Given the description of an element on the screen output the (x, y) to click on. 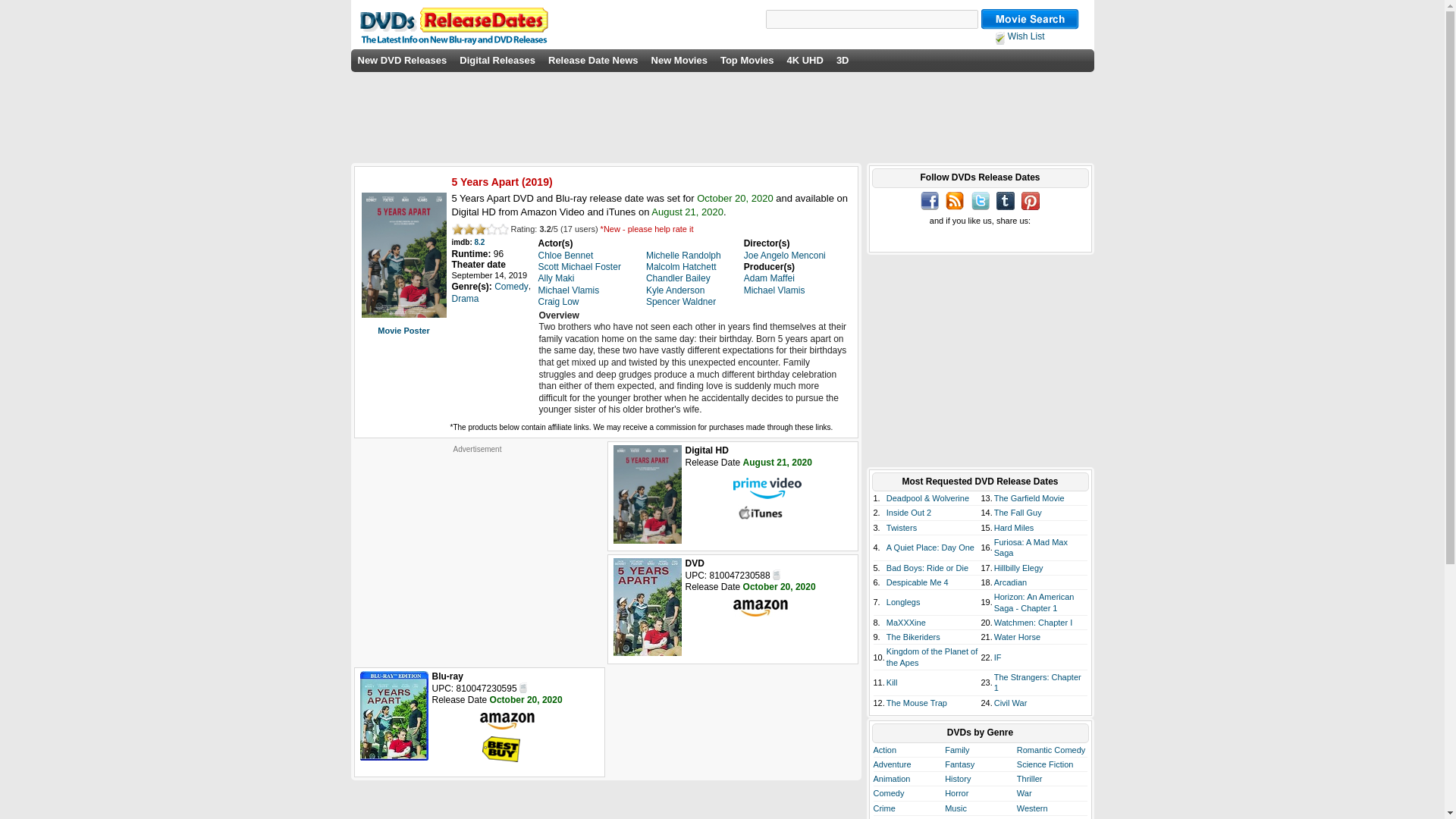
Top Movies (747, 60)
Scott Michael Foster (579, 266)
Chloe Bennet (566, 255)
Michael Vlamis (774, 290)
Wish List (1019, 36)
Malcolm Hatchett (681, 266)
Release Date News (593, 60)
2 (468, 229)
5 (502, 229)
Movie Poster (403, 329)
Chandler Bailey (678, 277)
2 out of 5. (468, 229)
1 (457, 229)
Michelle Randolph (683, 255)
Ally Maki (556, 277)
